Given the description of an element on the screen output the (x, y) to click on. 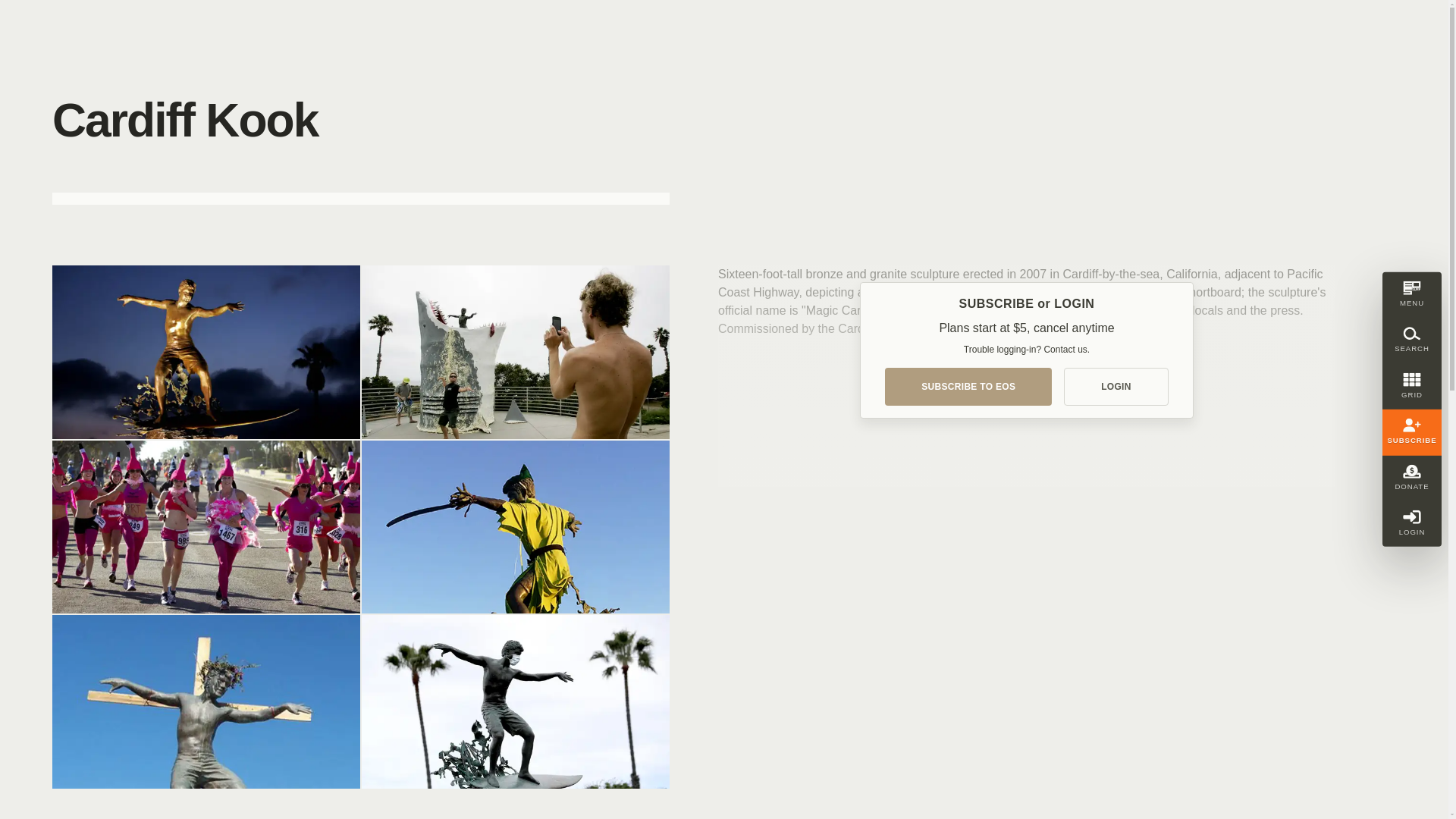
SEARCH (1411, 340)
LOGIN (1116, 386)
GRID (1411, 386)
SUBSCRIBE (1411, 432)
DONATE (1411, 294)
LOGIN (1411, 477)
SUBSCRIBE TO EOS (1411, 524)
